Given the description of an element on the screen output the (x, y) to click on. 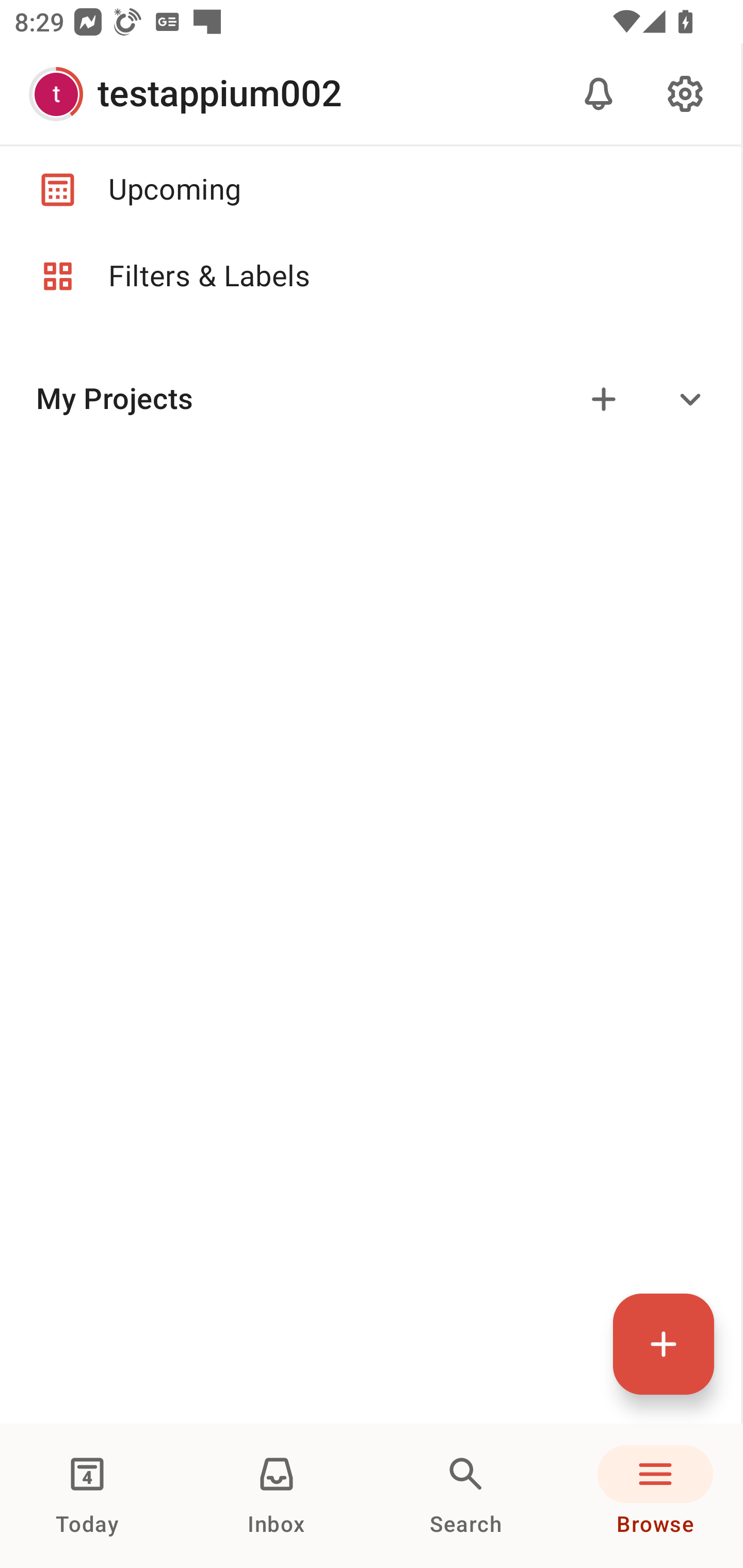
Notifications (598, 93)
Settings (684, 93)
Upcoming (370, 189)
Filters & Labels (370, 276)
My Projects Add Expand/collapse (370, 398)
Add (603, 398)
Expand/collapse (690, 398)
Quick add (663, 1343)
Today (87, 1495)
Inbox (276, 1495)
Search (465, 1495)
